Given the description of an element on the screen output the (x, y) to click on. 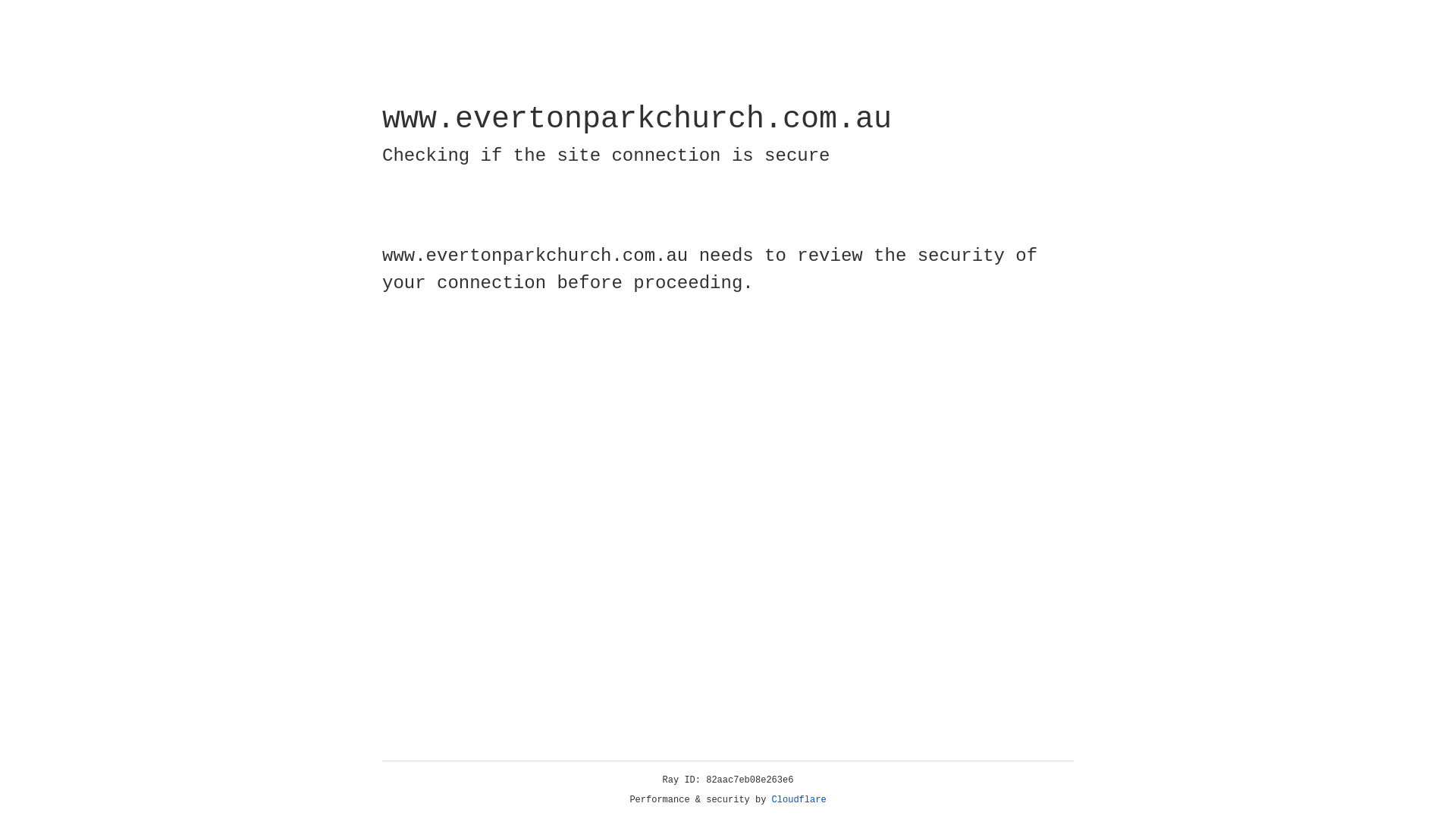
Cloudflare Element type: text (798, 799)
